Given the description of an element on the screen output the (x, y) to click on. 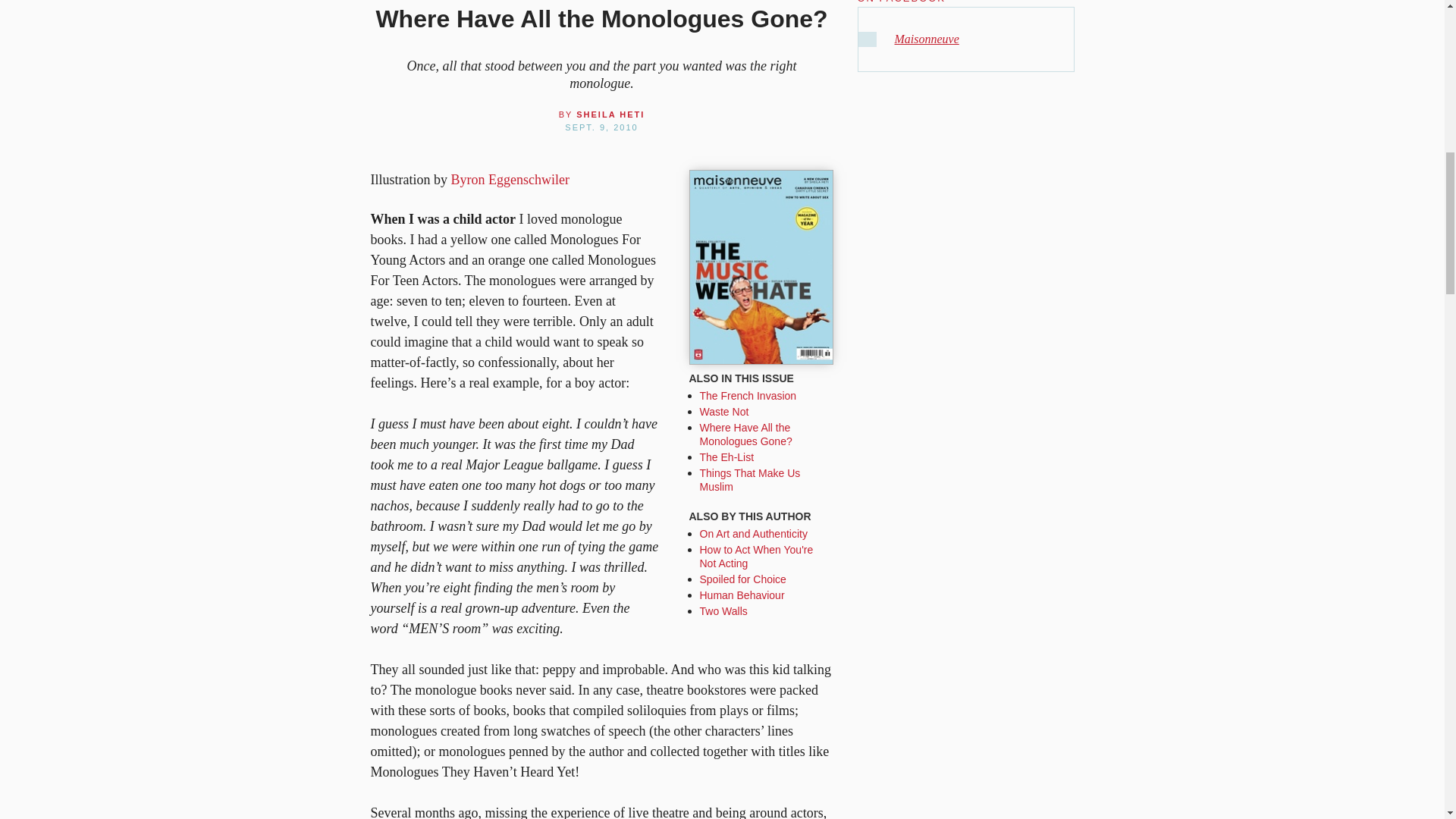
SHEILA HETI (610, 113)
